Given the description of an element on the screen output the (x, y) to click on. 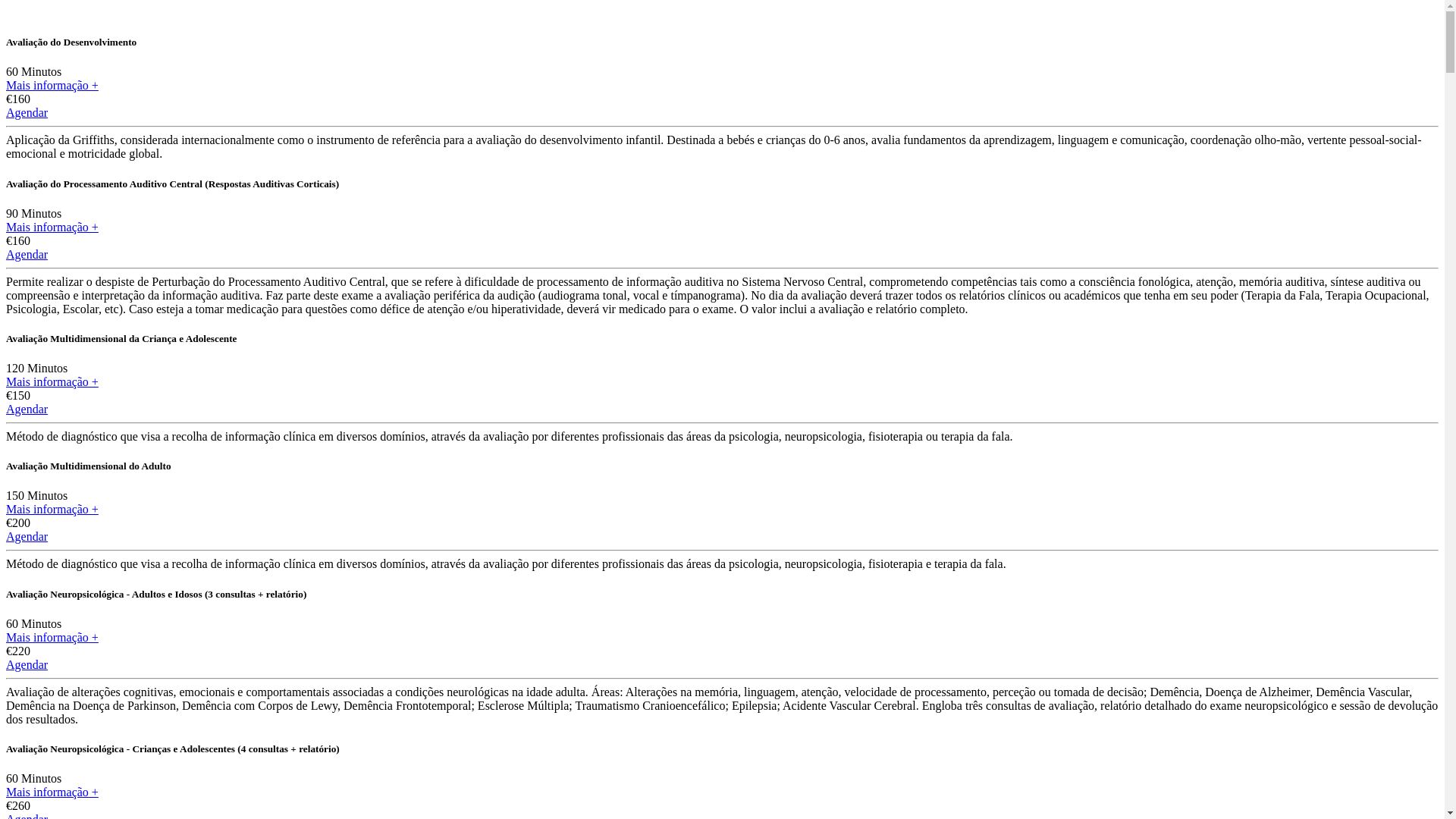
Agendar Element type: text (26, 408)
Agendar Element type: text (26, 253)
Agendar Element type: text (26, 112)
Agendar Element type: text (26, 536)
Agendar Element type: text (26, 664)
